Given the description of an element on the screen output the (x, y) to click on. 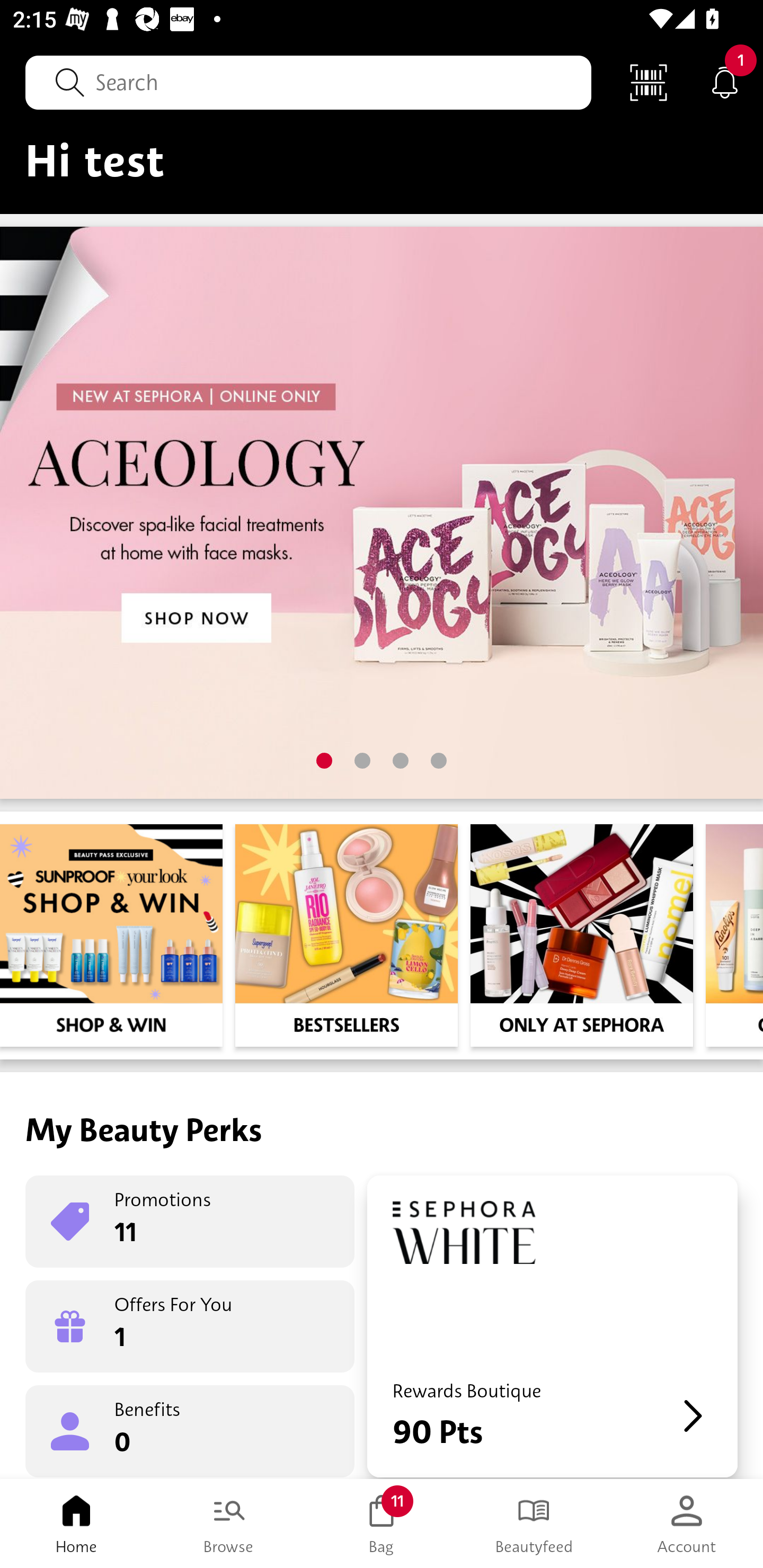
Scan Code (648, 81)
Notifications (724, 81)
Search (308, 81)
Promotions 11 (189, 1221)
Rewards Boutique 90 Pts (552, 1326)
Offers For You 1 (189, 1326)
Benefits 0 (189, 1430)
Browse (228, 1523)
Bag 11 Bag (381, 1523)
Beautyfeed (533, 1523)
Account (686, 1523)
